Given the description of an element on the screen output the (x, y) to click on. 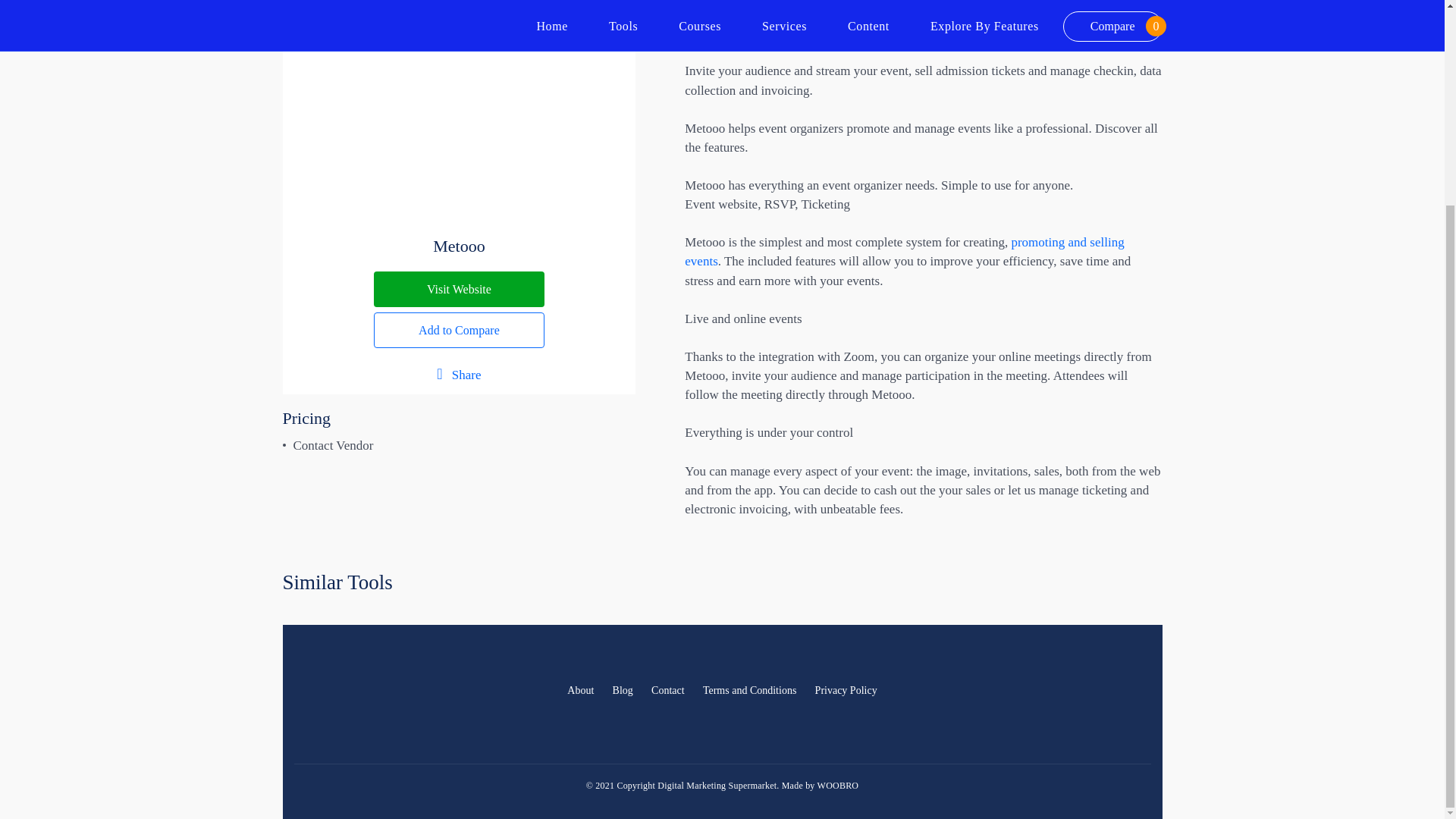
Contact (668, 691)
Visit Website (459, 289)
WordPress Agency London (837, 785)
Digital Marketing Supermarket (339, 708)
Terms and Conditions (749, 691)
Instagram (1136, 691)
Privacy Policy (846, 691)
About (580, 691)
promoting and selling events (904, 251)
Add to Compare (459, 330)
